Given the description of an element on the screen output the (x, y) to click on. 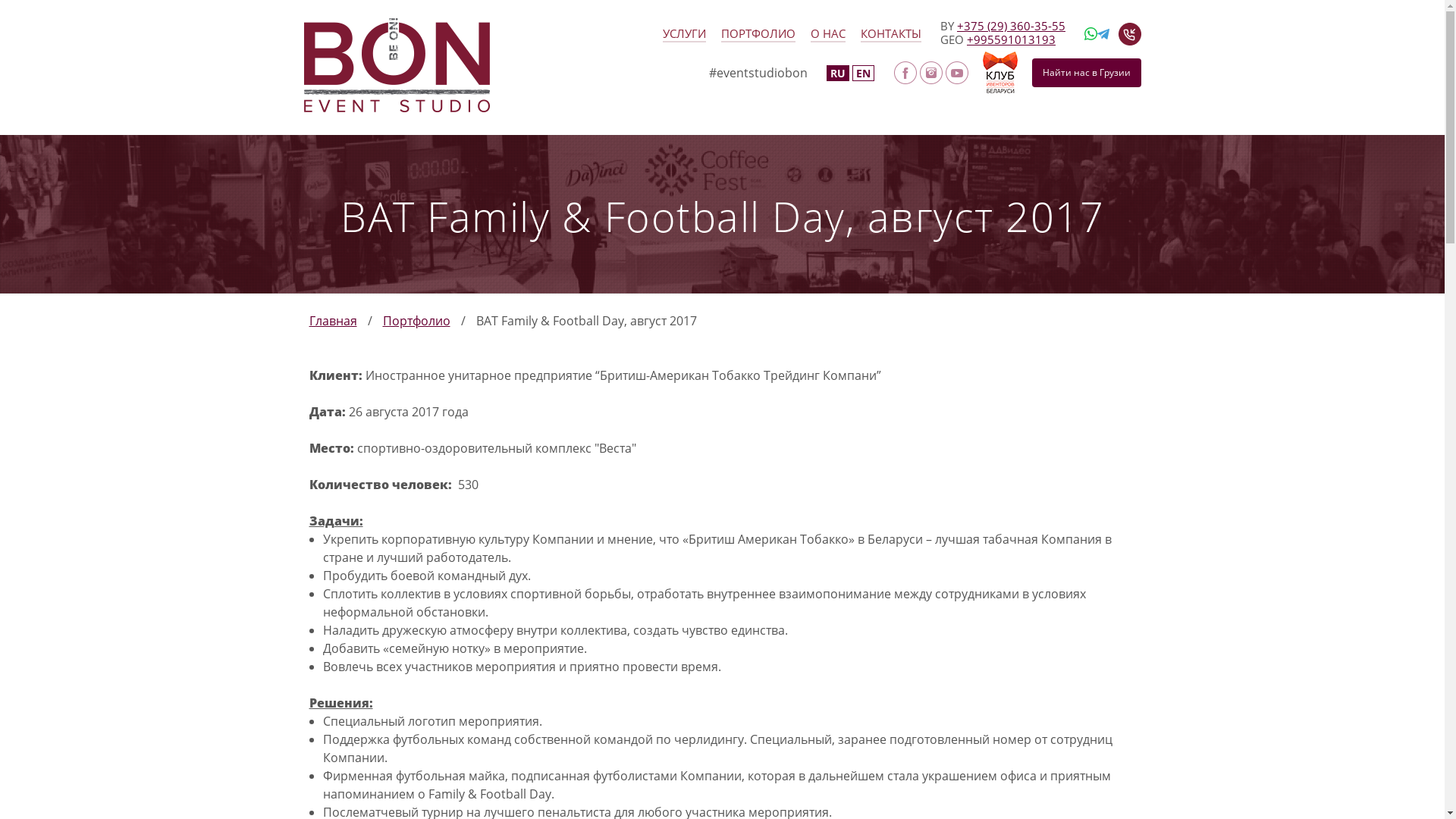
RU Element type: text (837, 73)
EN Element type: text (863, 73)
+995591013193 Element type: text (1010, 38)
+375 (29) 360-35-55 Element type: text (1011, 25)
